Given the description of an element on the screen output the (x, y) to click on. 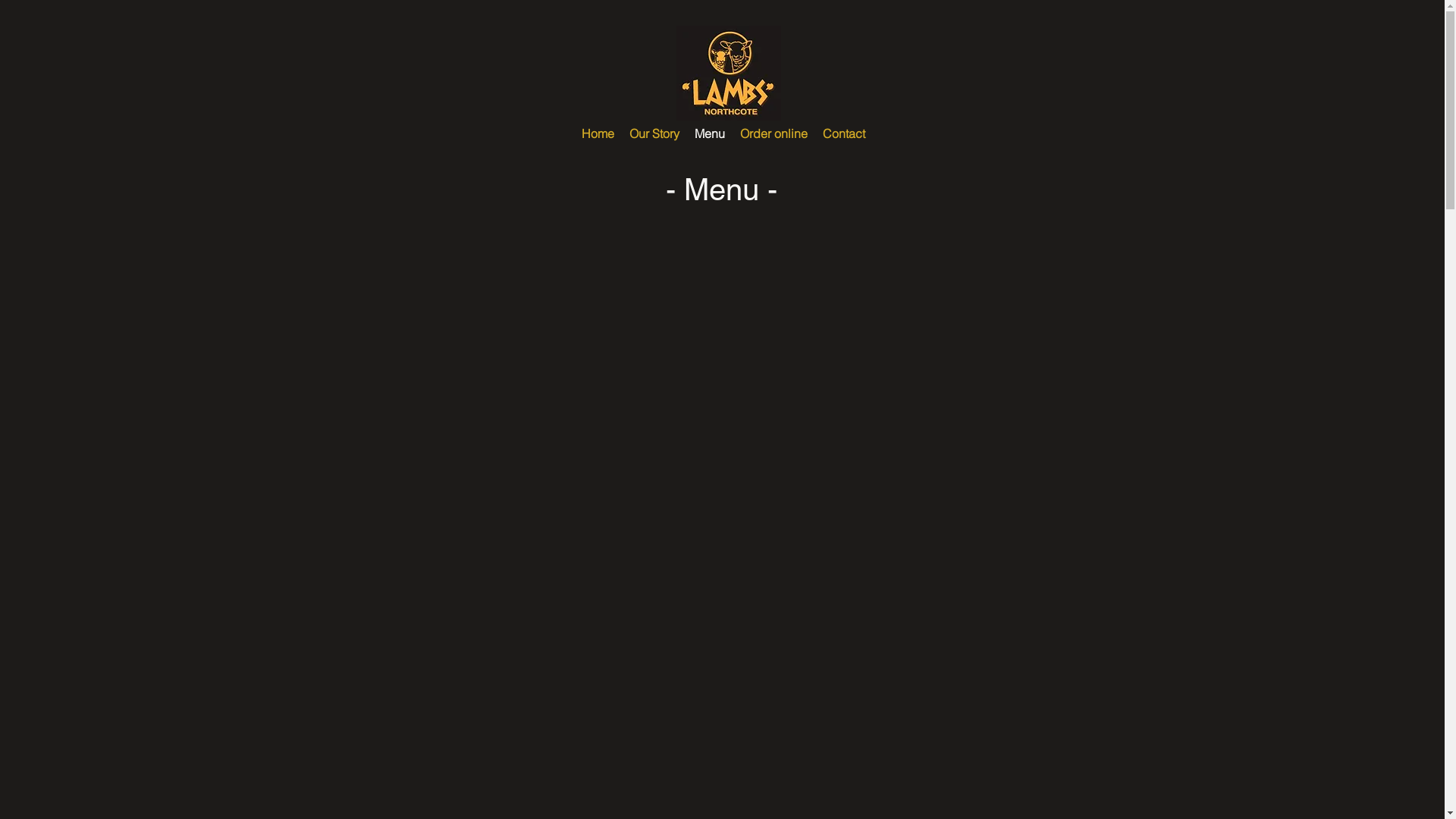
Our Story Element type: text (654, 133)
Menu Element type: text (709, 133)
Order online Element type: text (773, 133)
Contact Element type: text (843, 133)
Home Element type: text (597, 133)
logo_on_black.jpg Element type: hover (728, 72)
